Given the description of an element on the screen output the (x, y) to click on. 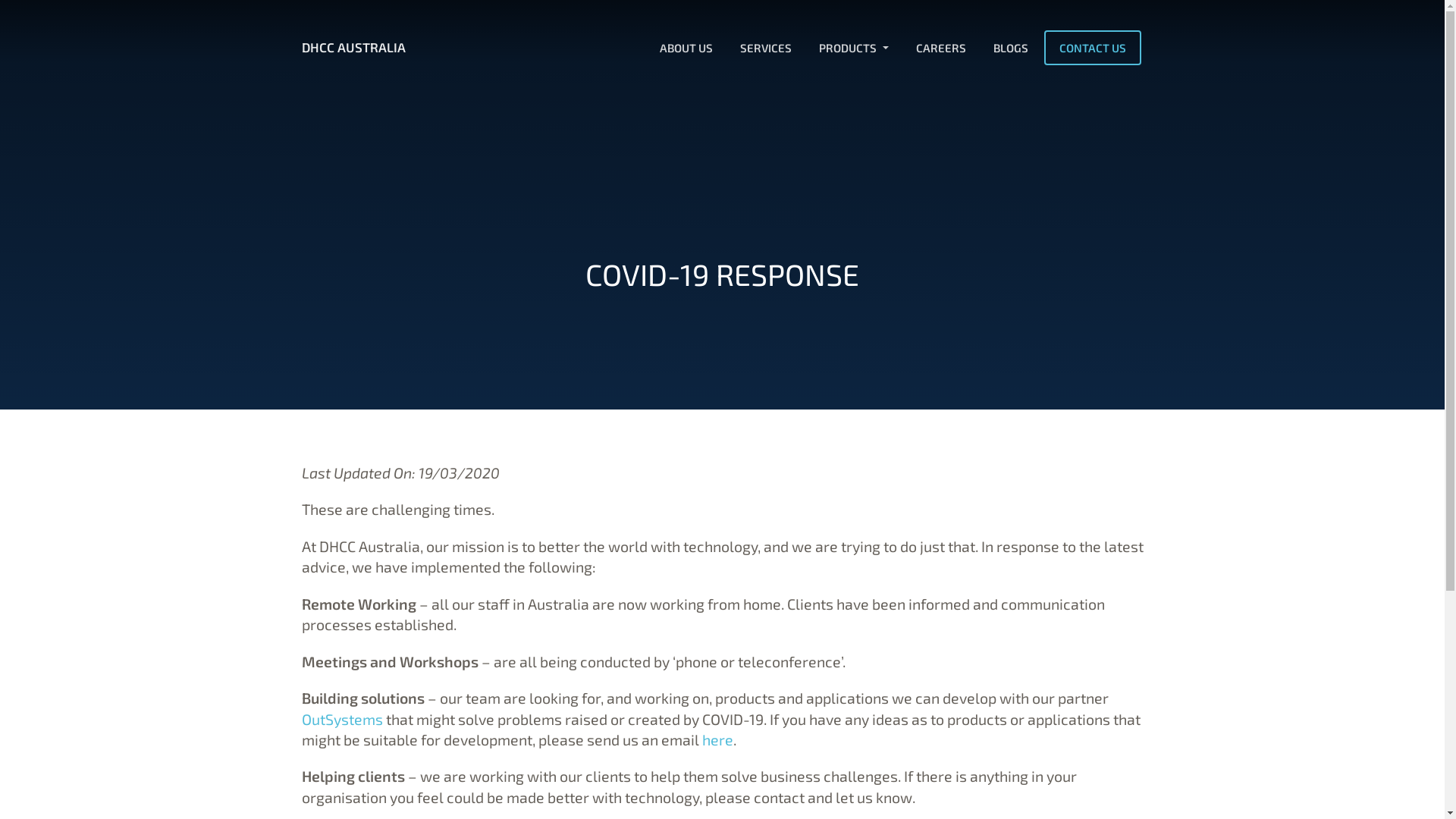
here Element type: text (717, 739)
CAREERS Element type: text (939, 47)
Helping clients Element type: text (354, 775)
OutSystems Element type: text (341, 718)
BLOGS Element type: text (1009, 47)
Building solutions Element type: text (362, 697)
Remote Working Element type: text (358, 603)
CONTACT US Element type: text (1091, 47)
DHCC AUSTRALIA Element type: text (353, 47)
SERVICES Element type: text (765, 47)
PRODUCTS Element type: text (852, 47)
Meetings and Workshops Element type: text (391, 661)
ABOUT US Element type: text (685, 47)
